Given the description of an element on the screen output the (x, y) to click on. 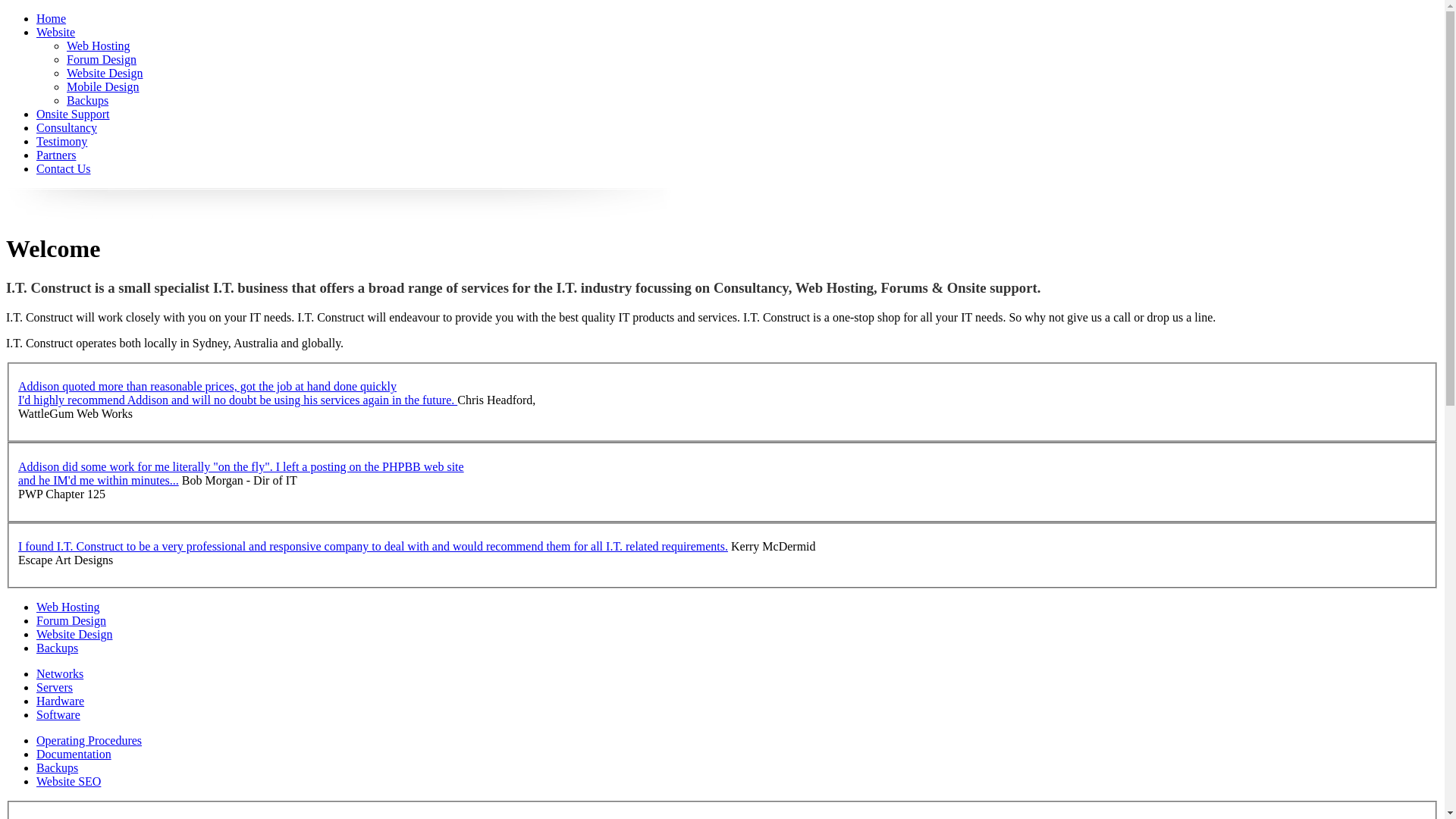
Forum Design Element type: text (71, 620)
Servers Element type: text (54, 686)
Backups Element type: text (87, 100)
Software Element type: text (58, 714)
Website Element type: text (55, 31)
Contact Us Element type: text (63, 168)
Consultancy Element type: text (66, 127)
Home Element type: text (50, 18)
Operating Procedures Element type: text (88, 740)
Web Hosting Element type: text (68, 606)
Website Design Element type: text (104, 72)
Documentation Element type: text (73, 753)
Hardware Element type: text (60, 700)
Onsite Support Element type: text (72, 113)
Website SEO Element type: text (68, 781)
Networks Element type: text (59, 673)
Forum Design Element type: text (101, 59)
Backups Element type: text (57, 767)
Web Hosting Element type: text (98, 45)
Website Design Element type: text (74, 633)
Mobile Design Element type: text (102, 86)
Testimony Element type: text (61, 140)
Backups Element type: text (57, 647)
Partners Element type: text (55, 154)
